Given the description of an element on the screen output the (x, y) to click on. 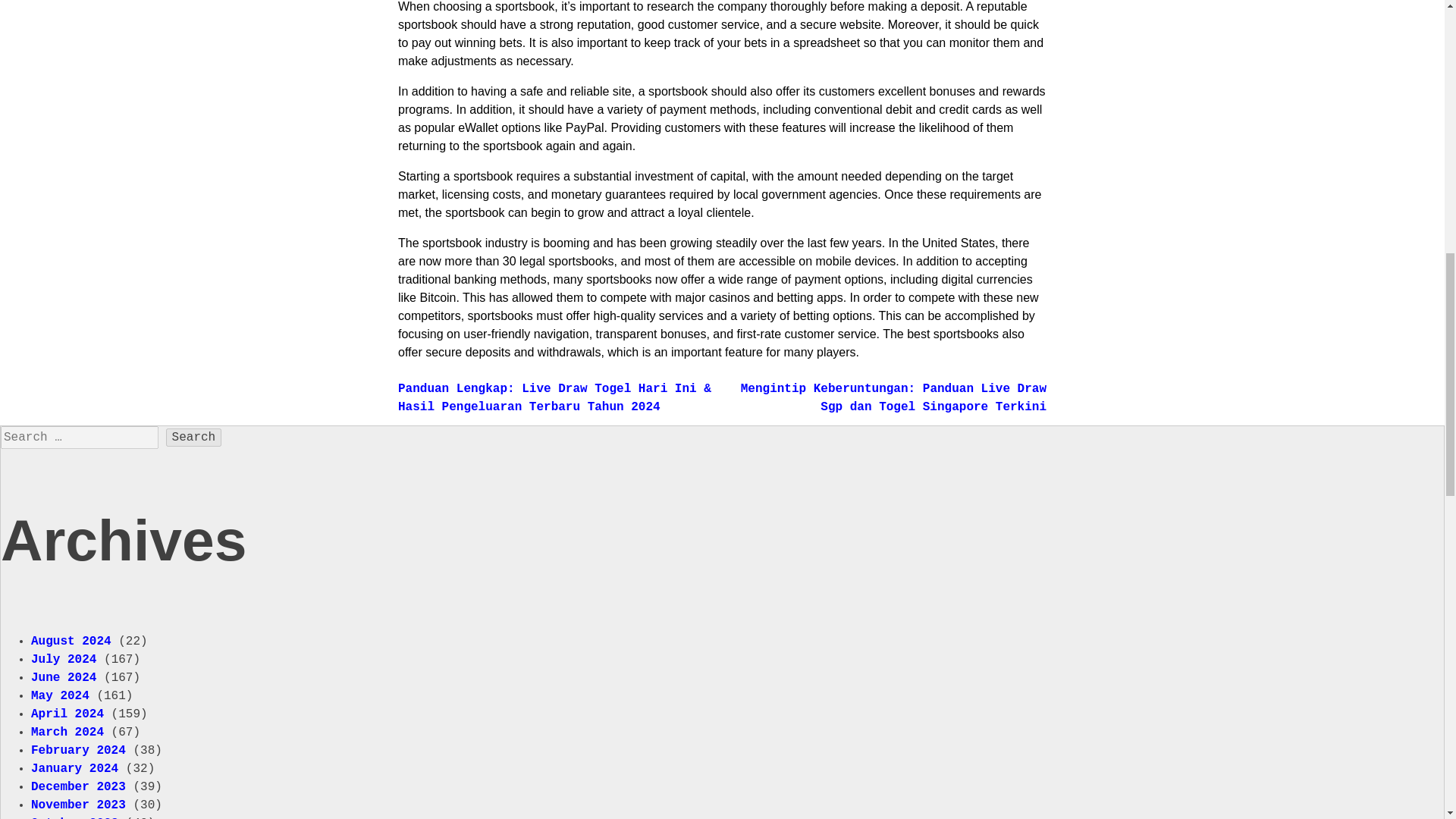
January 2024 (73, 768)
July 2024 (63, 659)
June 2024 (63, 677)
Search (193, 437)
May 2024 (59, 695)
Search (193, 437)
February 2024 (77, 750)
October 2023 (73, 817)
Search (193, 437)
April 2024 (66, 714)
December 2023 (77, 786)
March 2024 (66, 732)
November 2023 (77, 805)
August 2024 (71, 641)
